Given the description of an element on the screen output the (x, y) to click on. 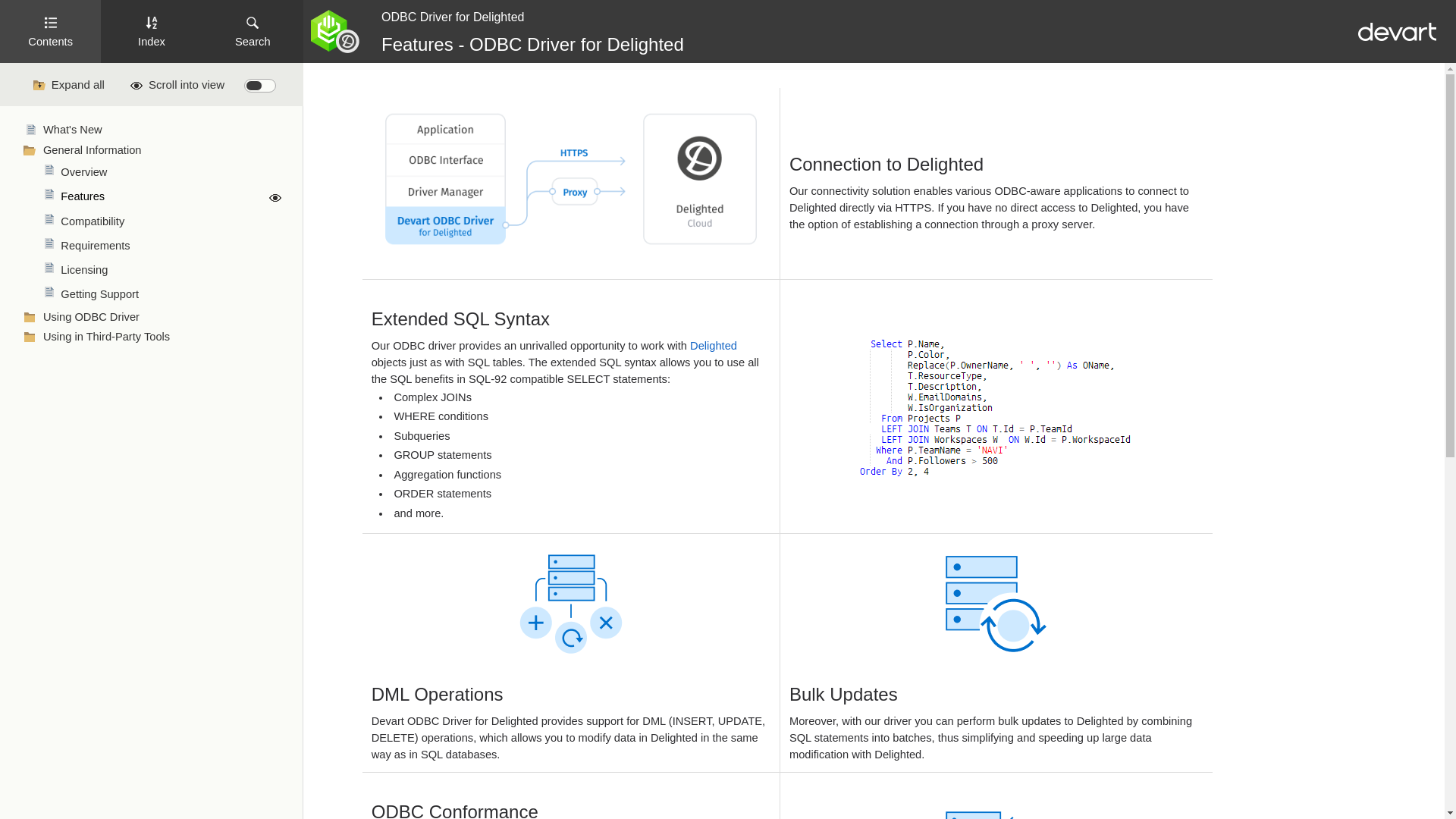
Getting Support (172, 294)
General Information (164, 151)
Licensing (172, 270)
Getting Support (172, 294)
Features (172, 196)
Using ODBC Driver (164, 317)
Licensing (172, 270)
What's New (164, 130)
What's New (164, 130)
Overview (172, 171)
